Given the description of an element on the screen output the (x, y) to click on. 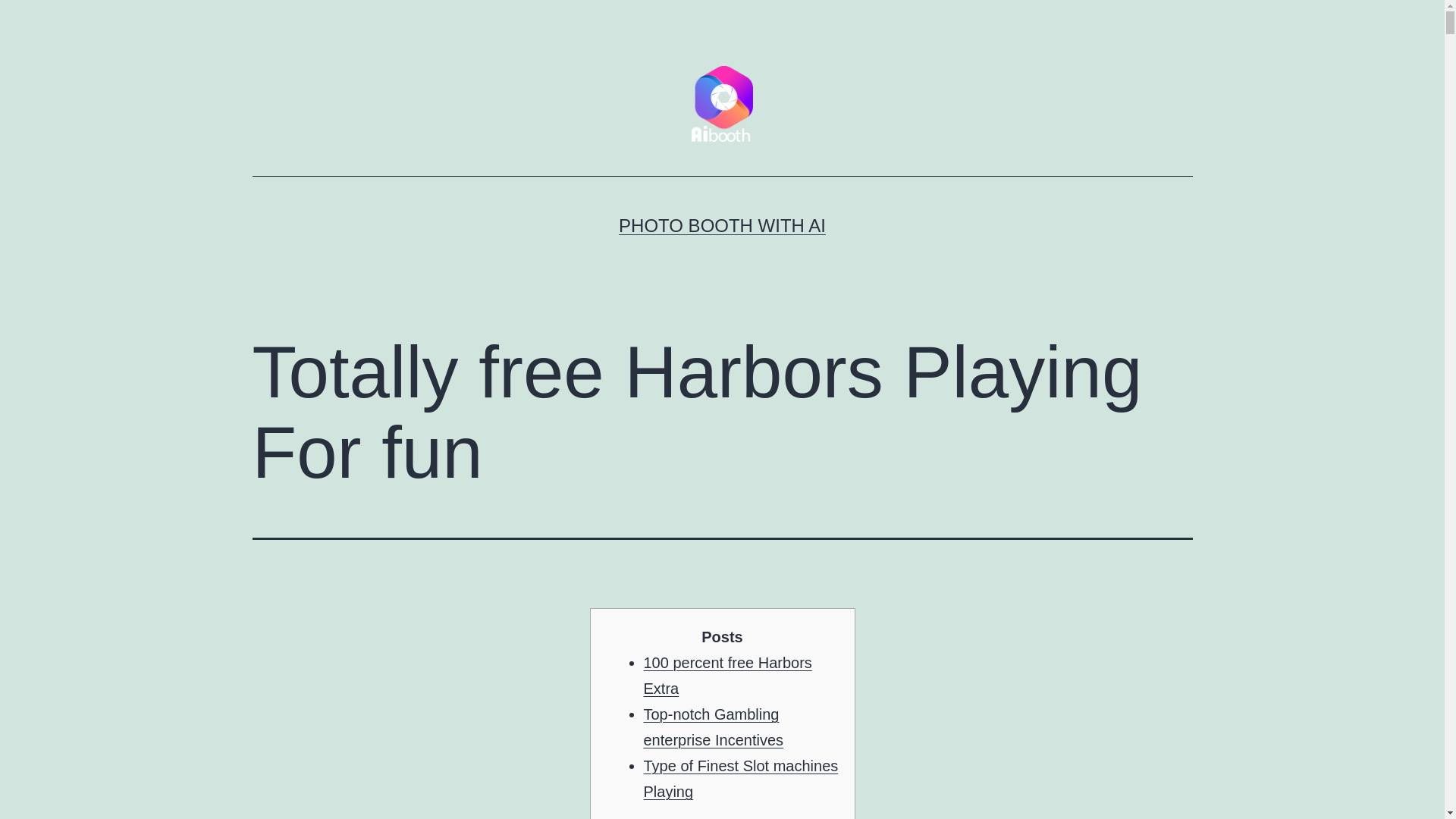
PHOTO BOOTH WITH AI (721, 225)
100 percent free Harbors Extra (726, 675)
Type of Finest Slot machines Playing (740, 778)
Top-notch Gambling enterprise Incentives (713, 726)
